Given the description of an element on the screen output the (x, y) to click on. 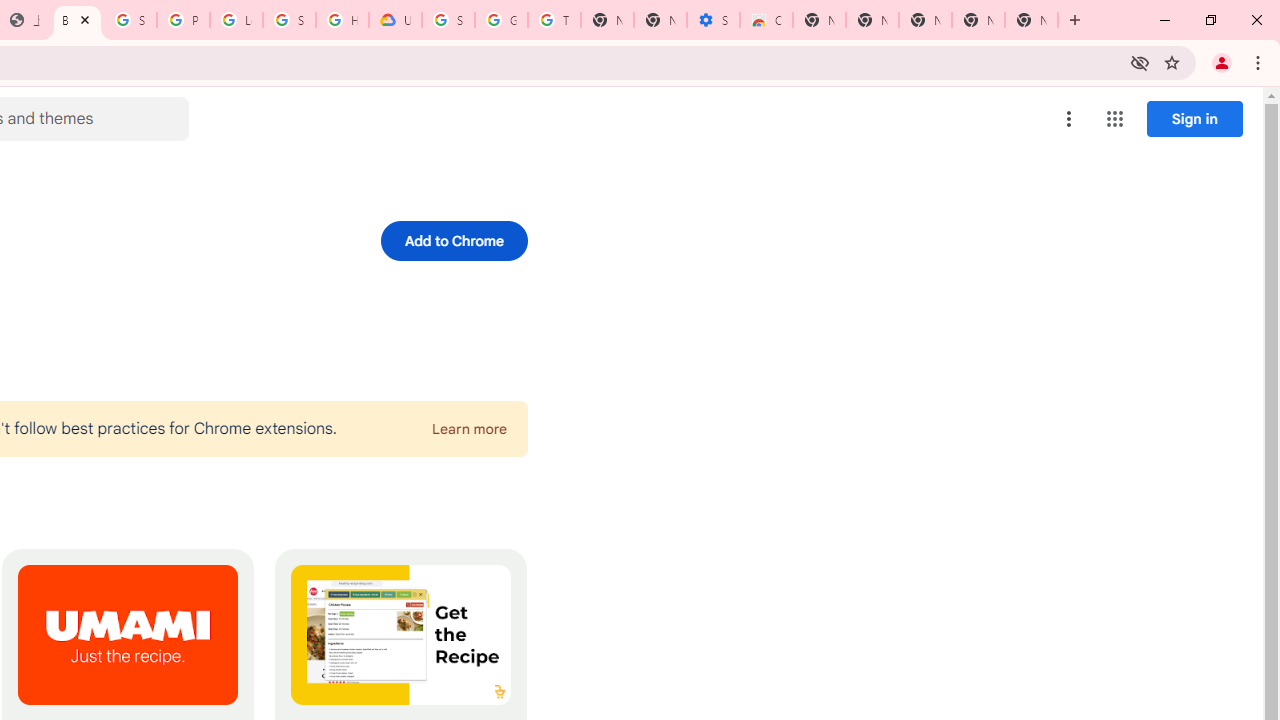
Sign in - Google Accounts (130, 20)
BrainBrake - Chrome Web Store (77, 20)
Turn cookies on or off - Computer - Google Account Help (554, 20)
